Given the description of an element on the screen output the (x, y) to click on. 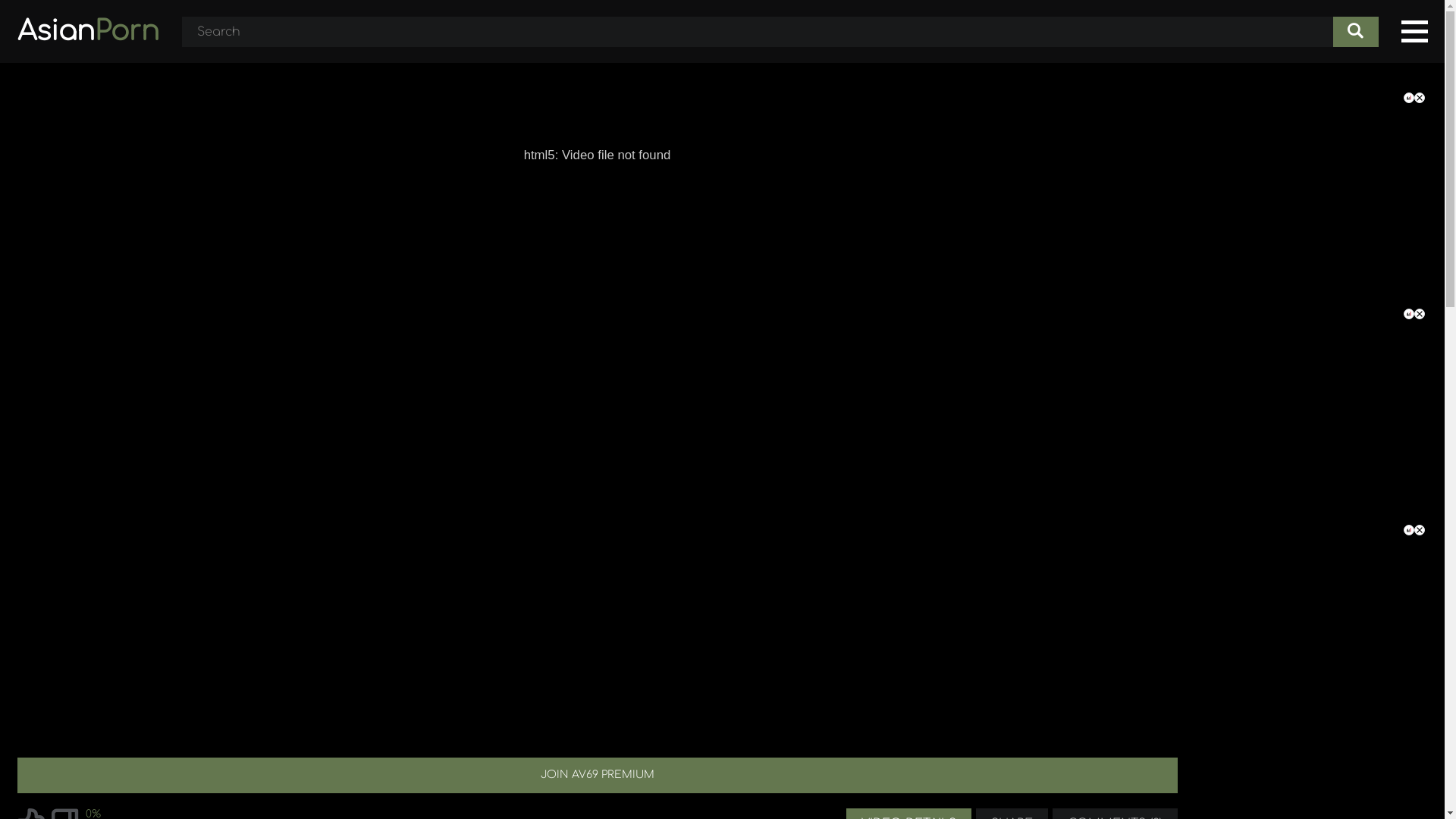
JOIN AV69 PREMIUM Element type: text (596, 775)
AsianPorn Element type: text (87, 31)
